Given the description of an element on the screen output the (x, y) to click on. 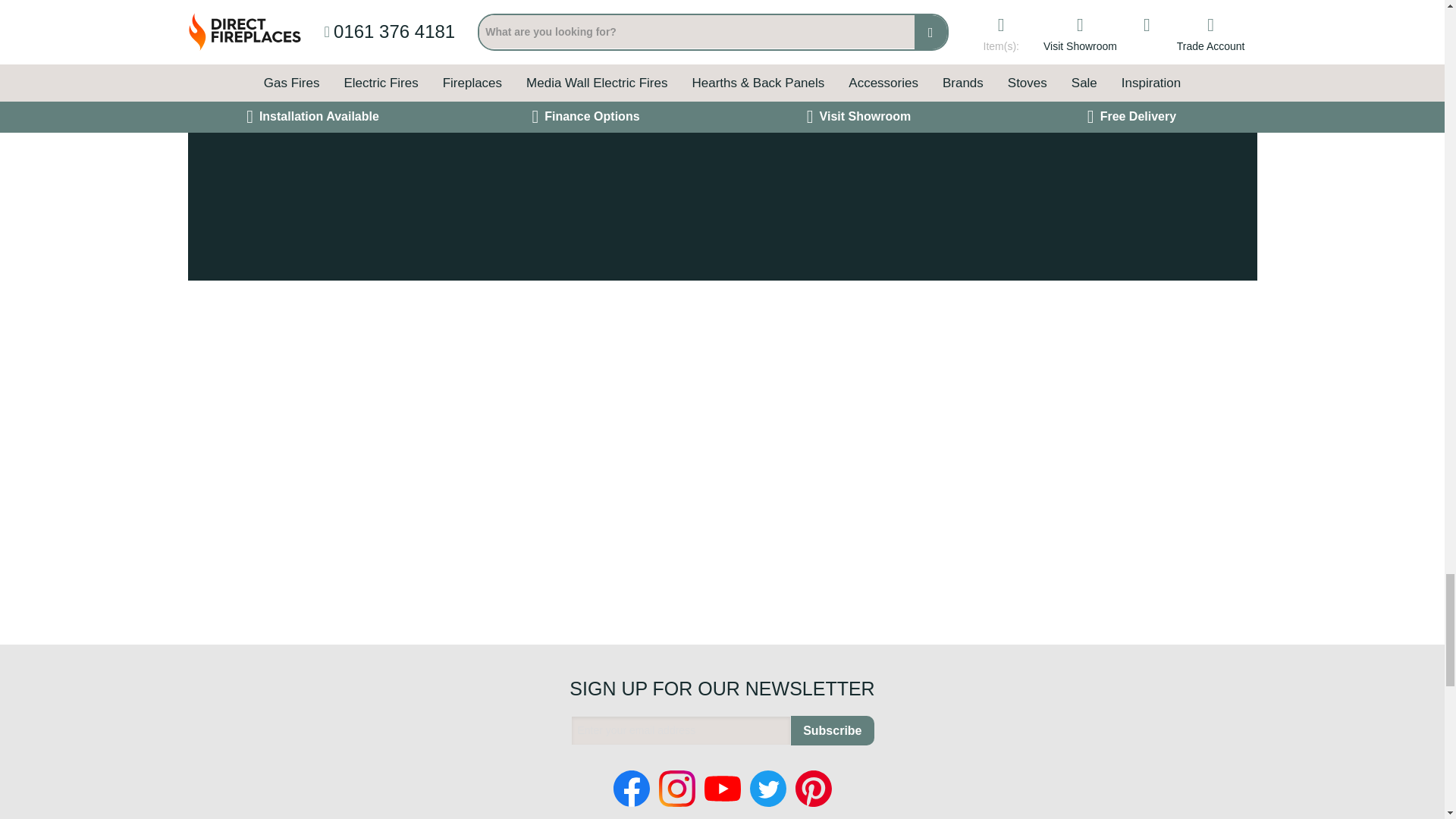
Subscribe (831, 730)
